Given the description of an element on the screen output the (x, y) to click on. 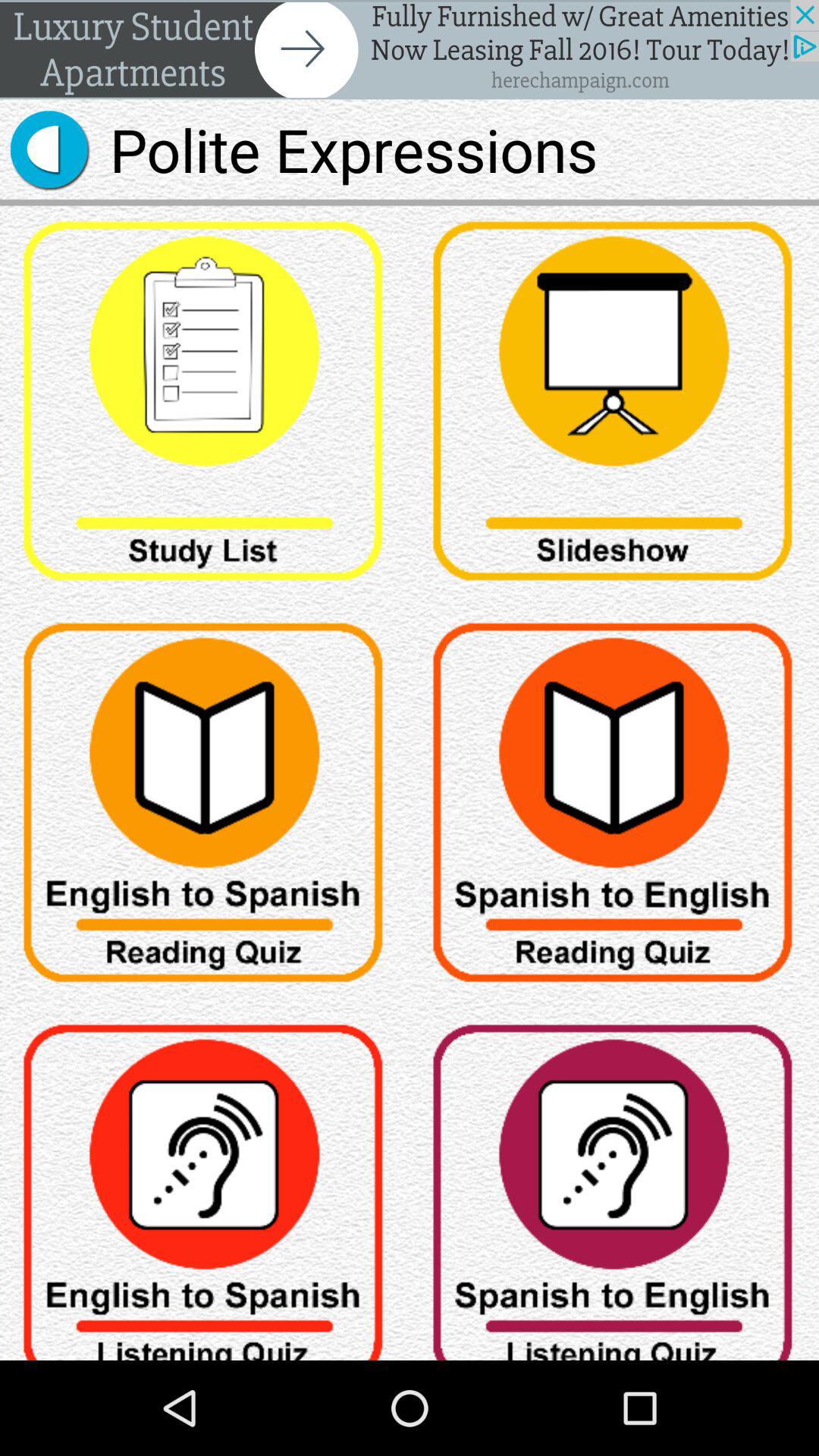
choose english to spanish quiz (204, 807)
